Given the description of an element on the screen output the (x, y) to click on. 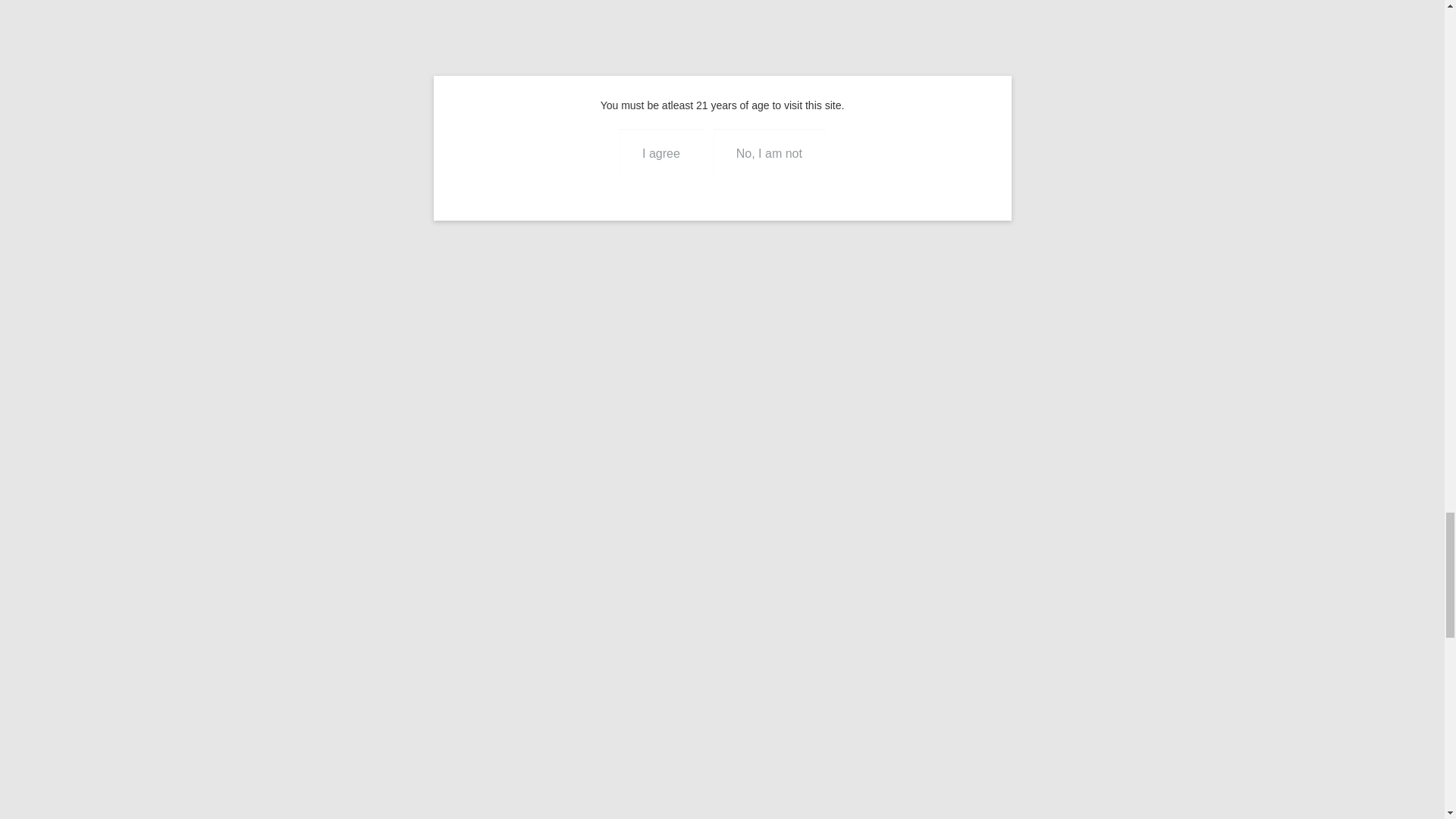
CBD (417, 37)
logged in (183, 552)
Lisa Colando (770, 324)
